Given the description of an element on the screen output the (x, y) to click on. 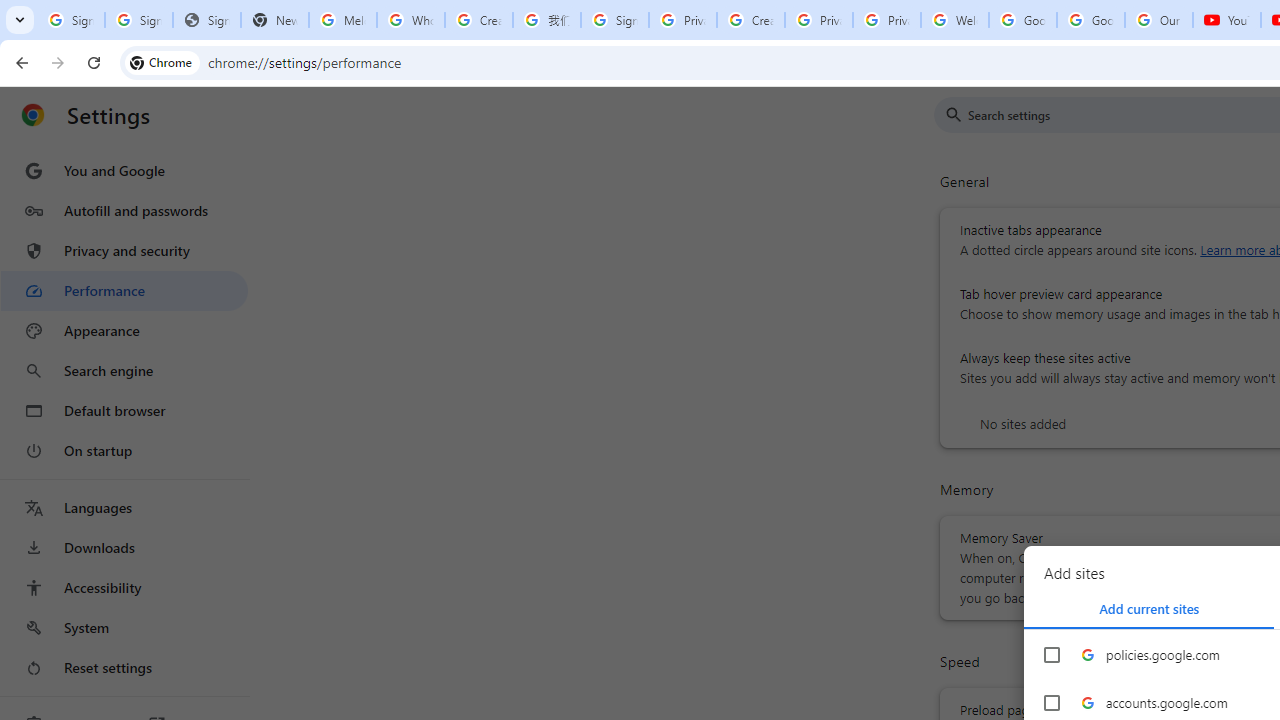
Who is my administrator? - Google Account Help (411, 20)
Create your Google Account (479, 20)
Google Account (1091, 20)
Add current sites (1149, 608)
YouTube (1226, 20)
